Given the description of an element on the screen output the (x, y) to click on. 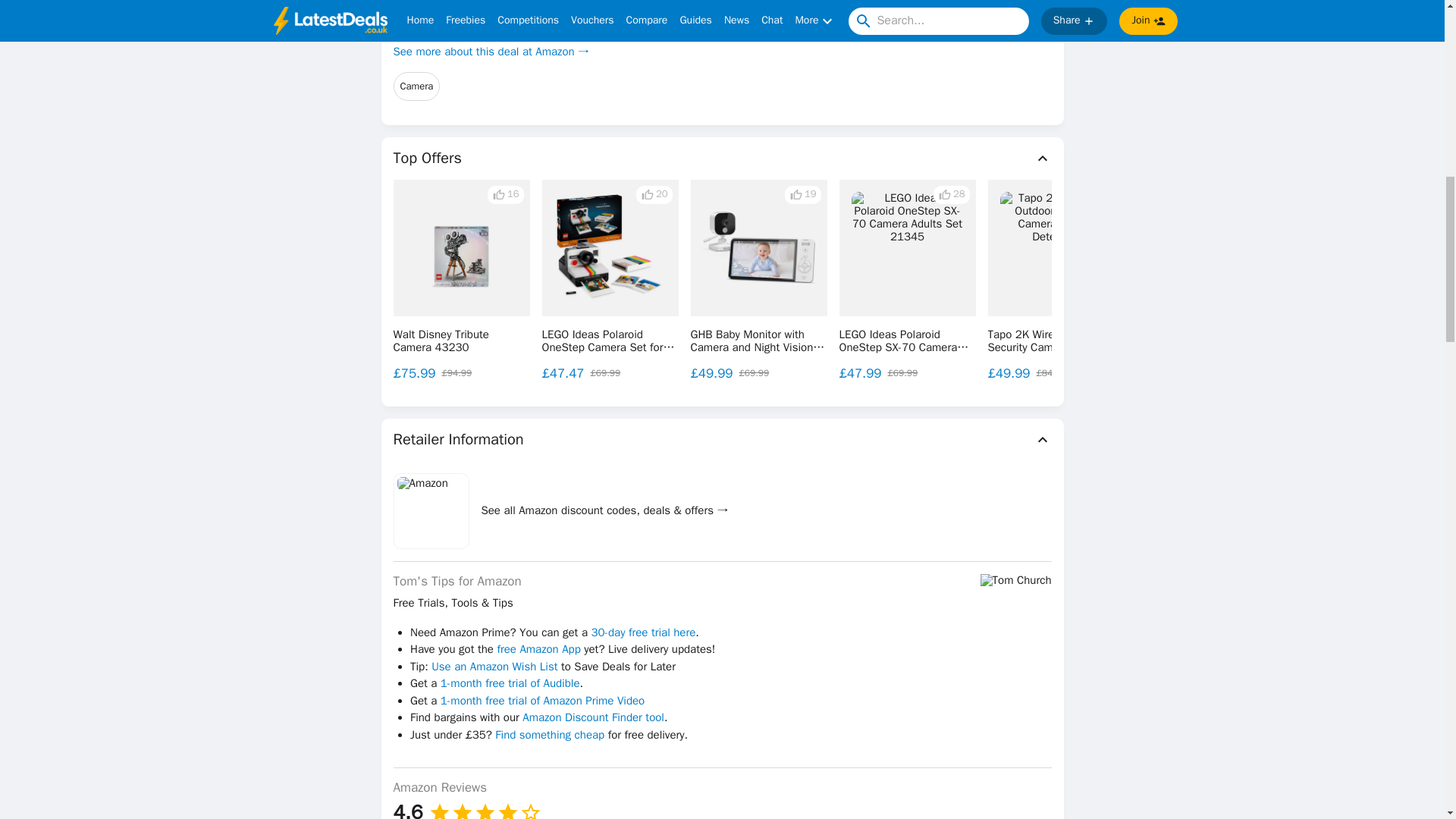
Camera (416, 86)
Top Offers (722, 157)
Retailer Information (722, 439)
See more offers (1329, 279)
